Given the description of an element on the screen output the (x, y) to click on. 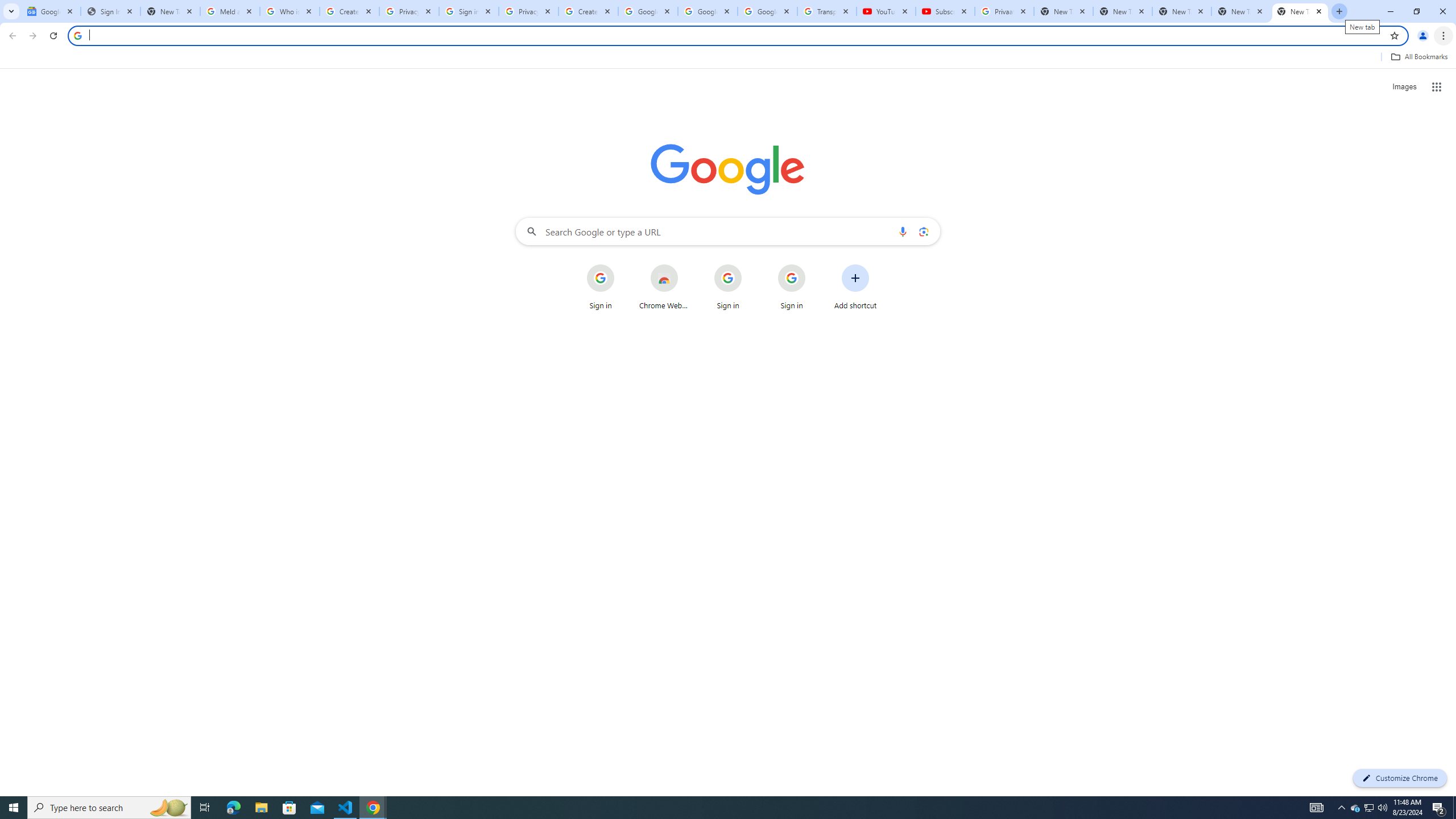
Create your Google Account (349, 11)
Search Google or type a URL (727, 230)
